Given the description of an element on the screen output the (x, y) to click on. 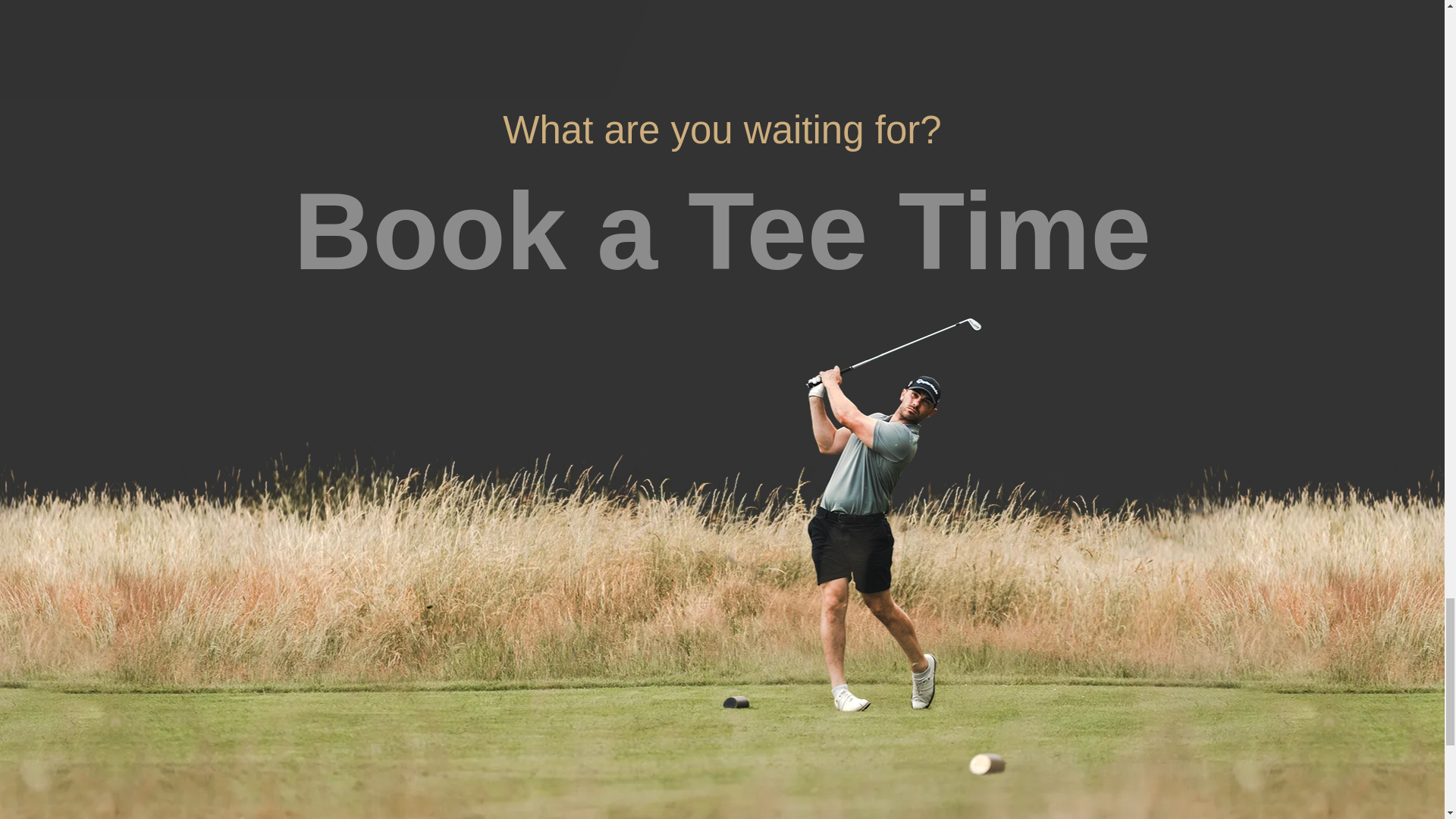
Book a Tee Time (722, 231)
